Given the description of an element on the screen output the (x, y) to click on. 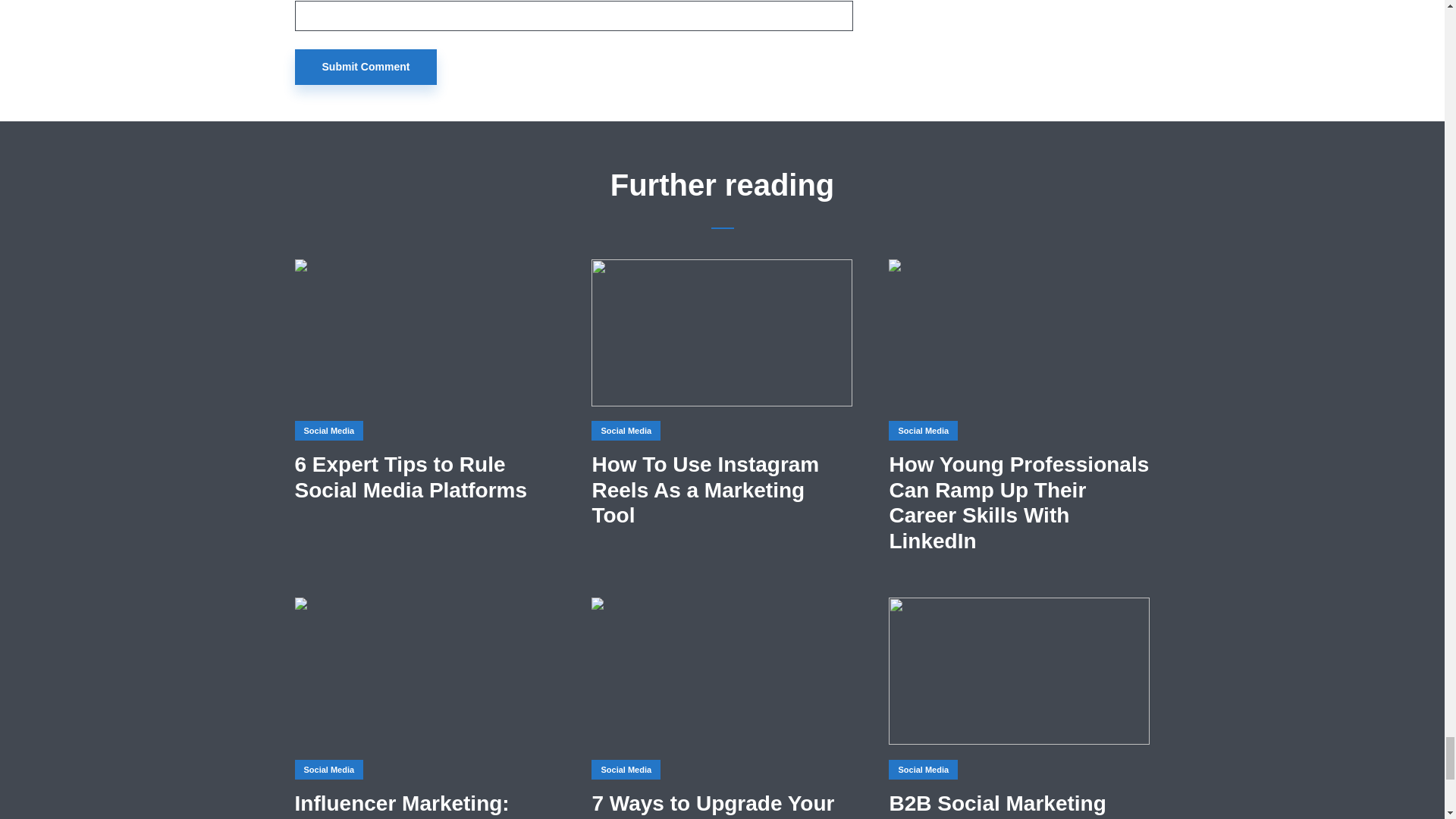
Submit Comment (365, 67)
